Given the description of an element on the screen output the (x, y) to click on. 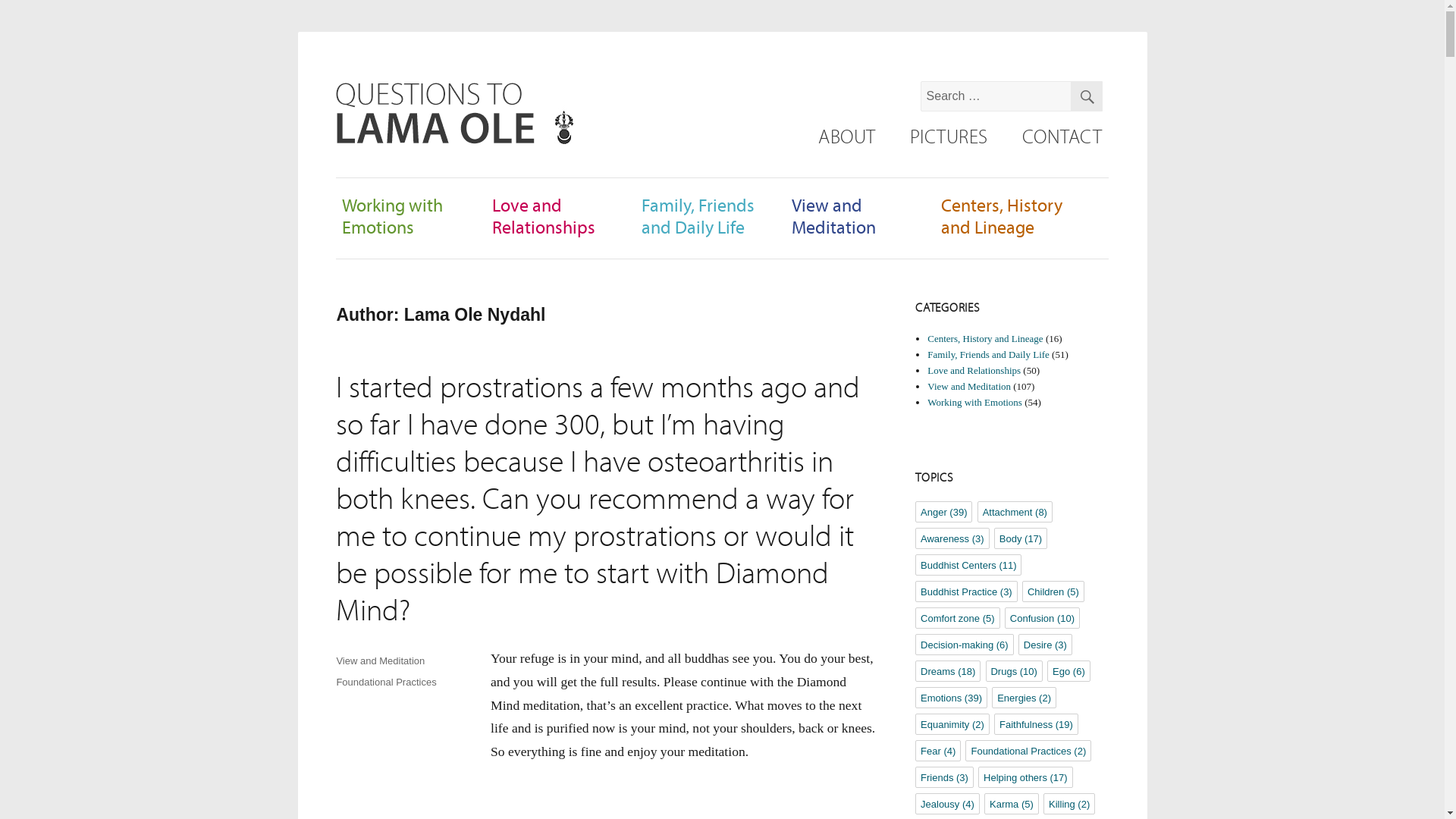
Foundational Practices (385, 681)
ABOUT (847, 136)
PICTURES (948, 136)
Family, Friends and Daily Life (698, 216)
View and Meditation (380, 660)
View and Meditation (834, 216)
SEARCH (1086, 96)
Centers, History and Lineage (1001, 216)
CONTACT (1061, 136)
Love and Relationships (543, 216)
Working with Emotions (392, 216)
